Given the description of an element on the screen output the (x, y) to click on. 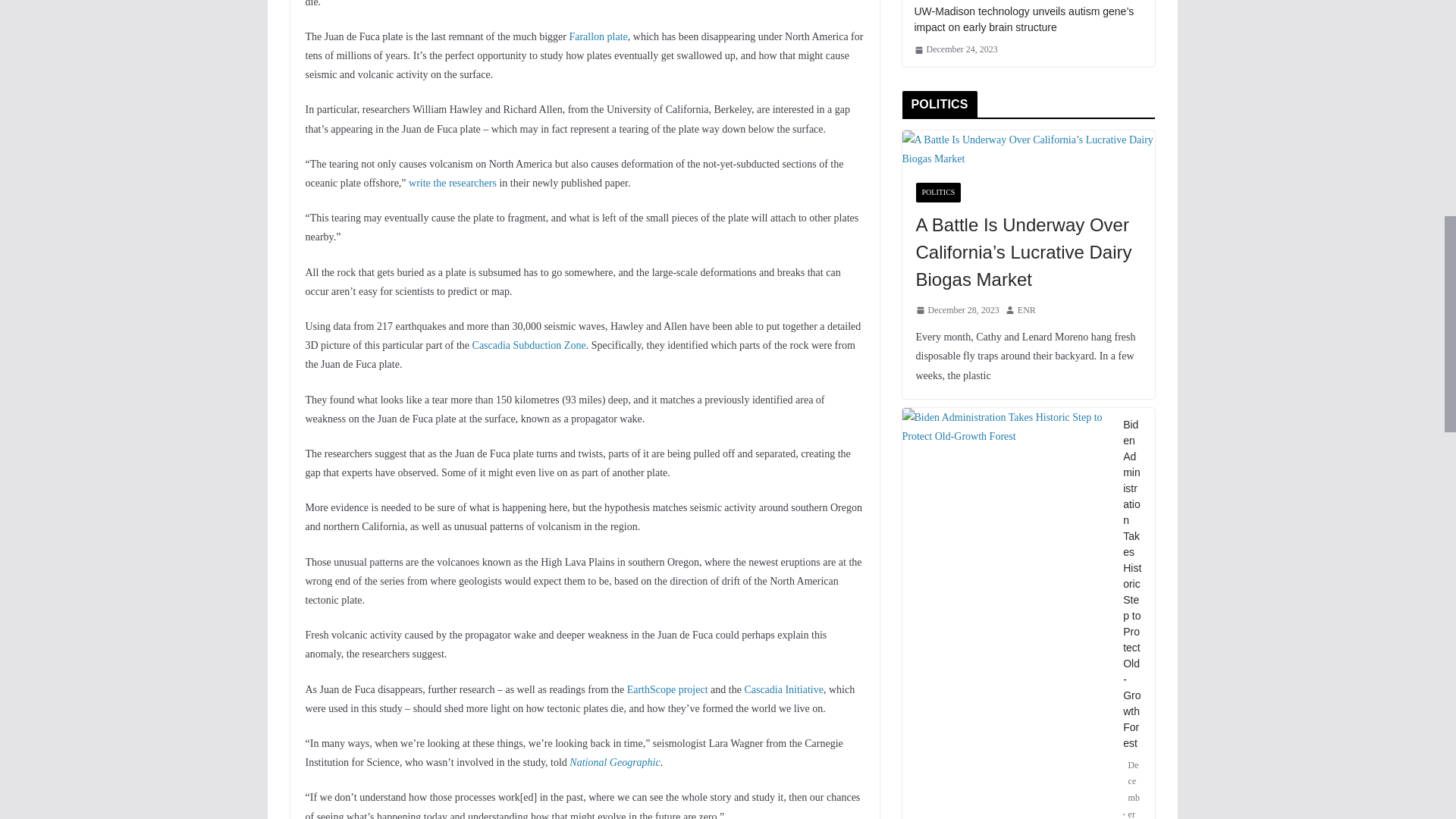
Farallon plate (598, 36)
write the researchers (452, 183)
EarthScope project (667, 689)
Cascadia Initiative (784, 689)
Cascadia Subduction Zone (528, 345)
National Geographic (614, 762)
